Given the description of an element on the screen output the (x, y) to click on. 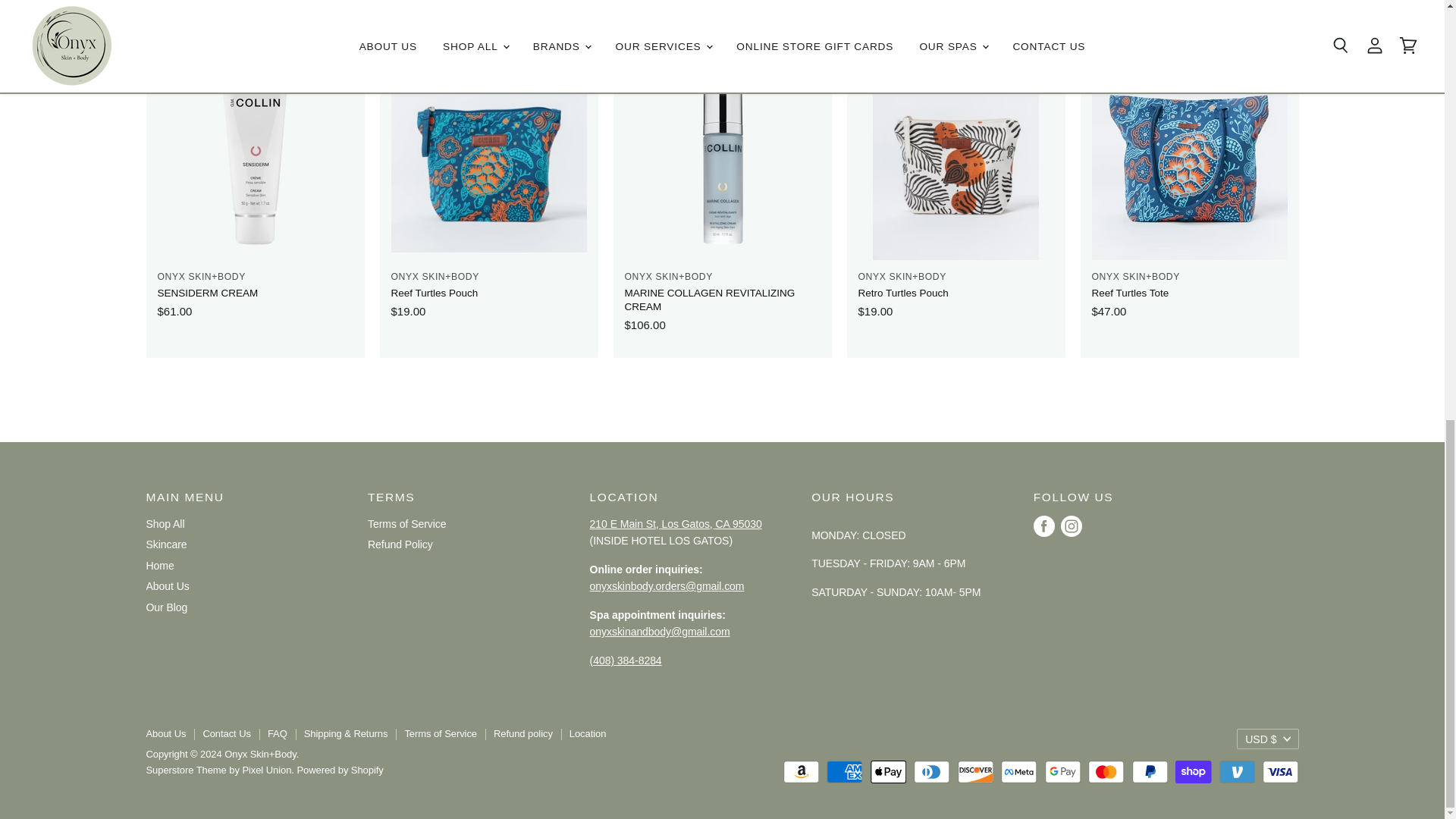
Instagram (1071, 525)
Facebook (1044, 525)
tel:4083848284 (625, 660)
